Given the description of an element on the screen output the (x, y) to click on. 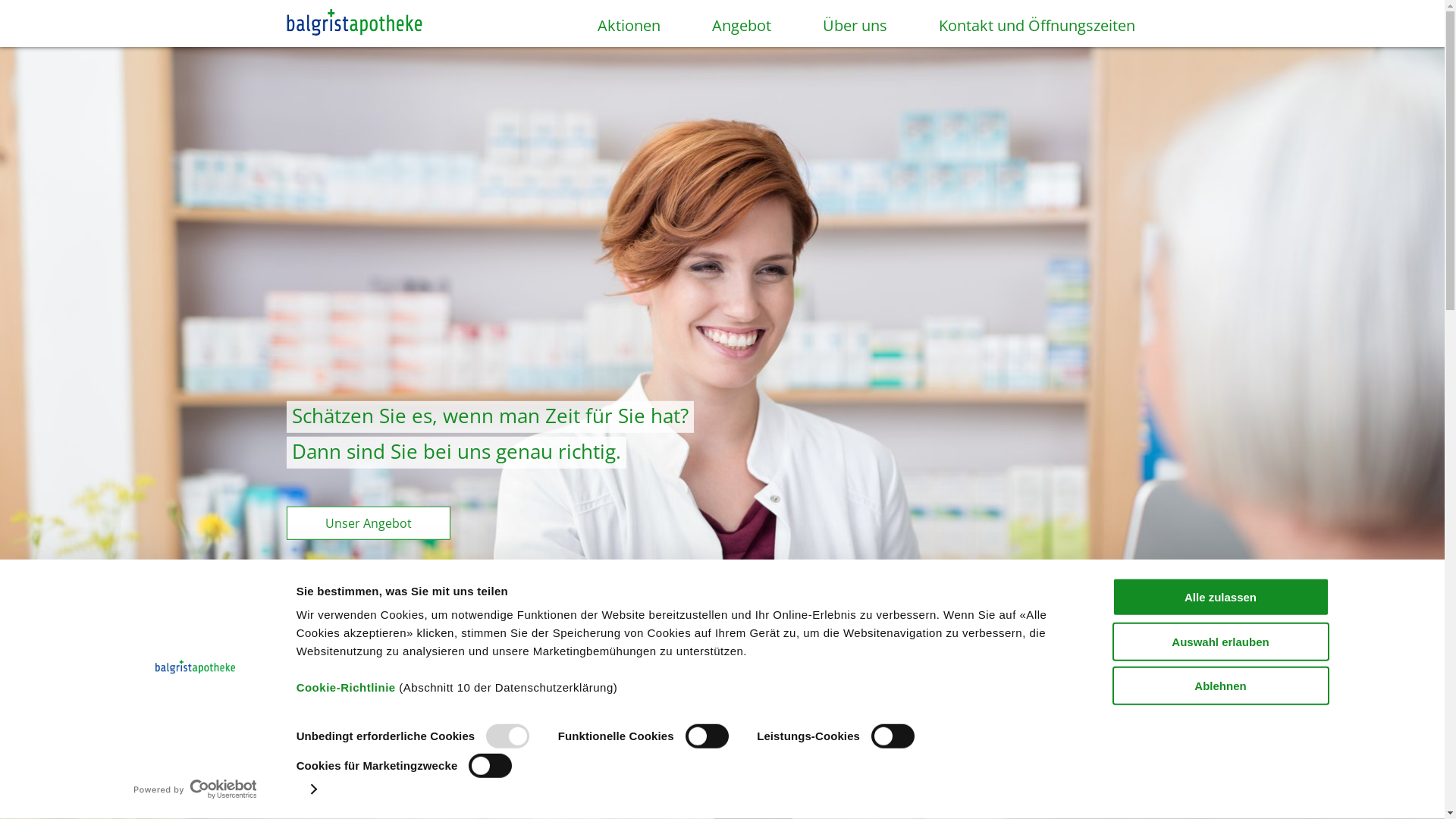
Unser Angebot Element type: text (368, 522)
Balgrist Apotheke Element type: hover (354, 23)
Auswahl erlauben Element type: text (1219, 640)
Cookie-Richtlinie Element type: text (345, 686)
Angebot Element type: text (726, 32)
Ablehnen Element type: text (1219, 685)
Alle zulassen Element type: text (1219, 596)
Aktionen Element type: text (614, 32)
